Given the description of an element on the screen output the (x, y) to click on. 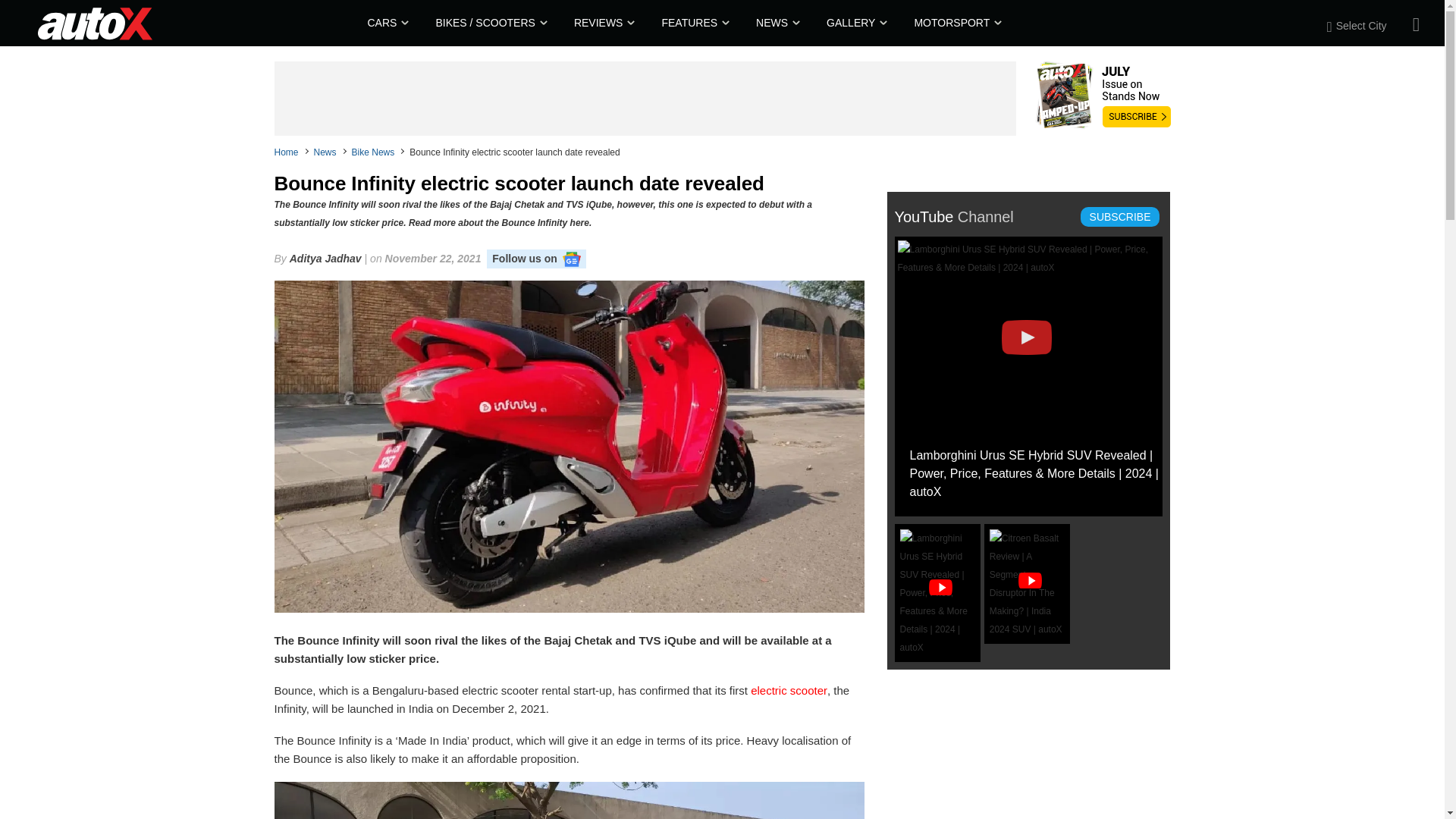
REVIEWS (601, 22)
CARS (386, 22)
Select City (1364, 25)
